Given the description of an element on the screen output the (x, y) to click on. 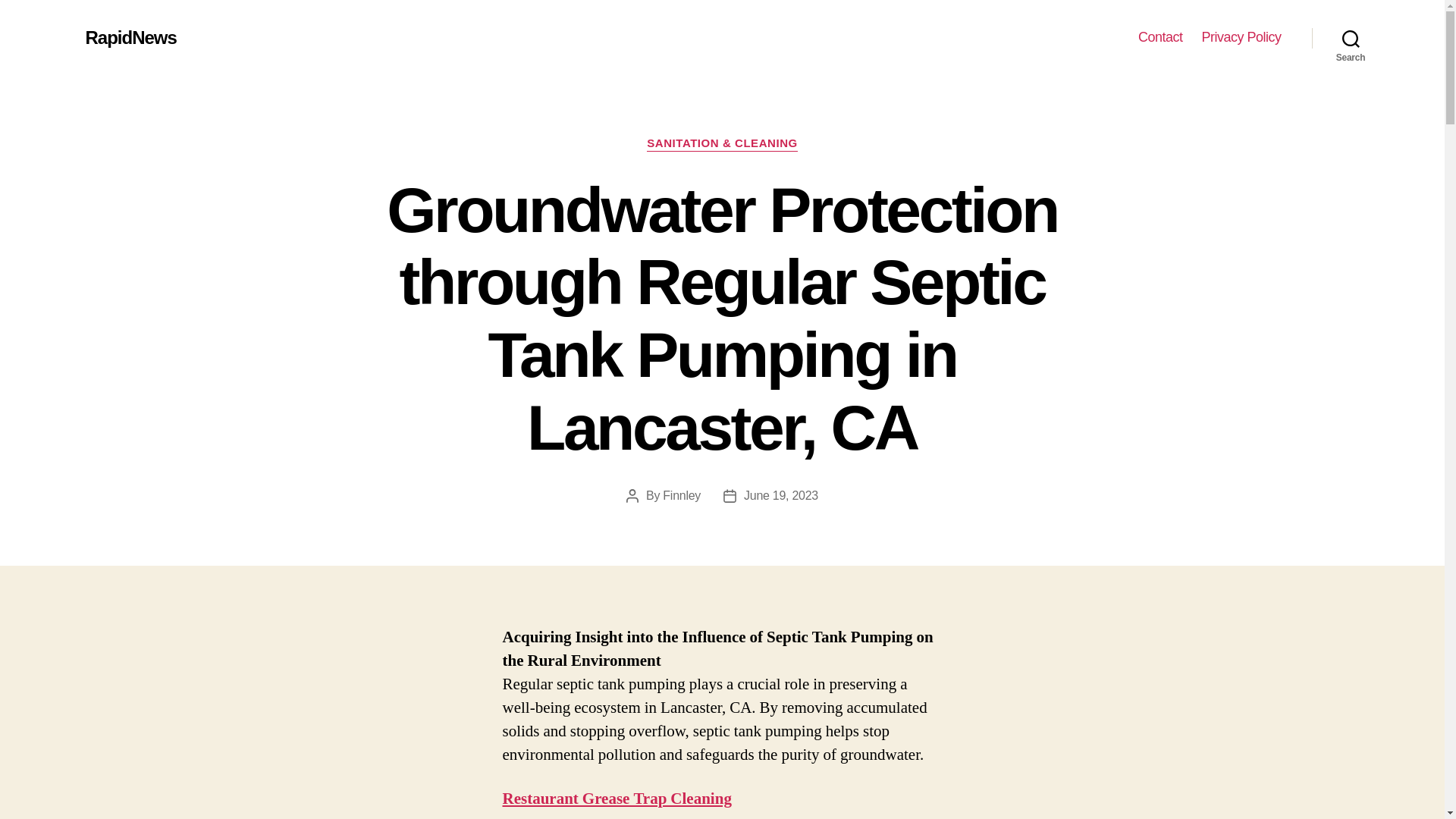
RapidNews (130, 37)
June 19, 2023 (781, 495)
Contact (1160, 37)
Finnley (681, 495)
Restaurant Grease Trap Cleaning (616, 798)
Privacy Policy (1241, 37)
Search (1350, 37)
